Given the description of an element on the screen output the (x, y) to click on. 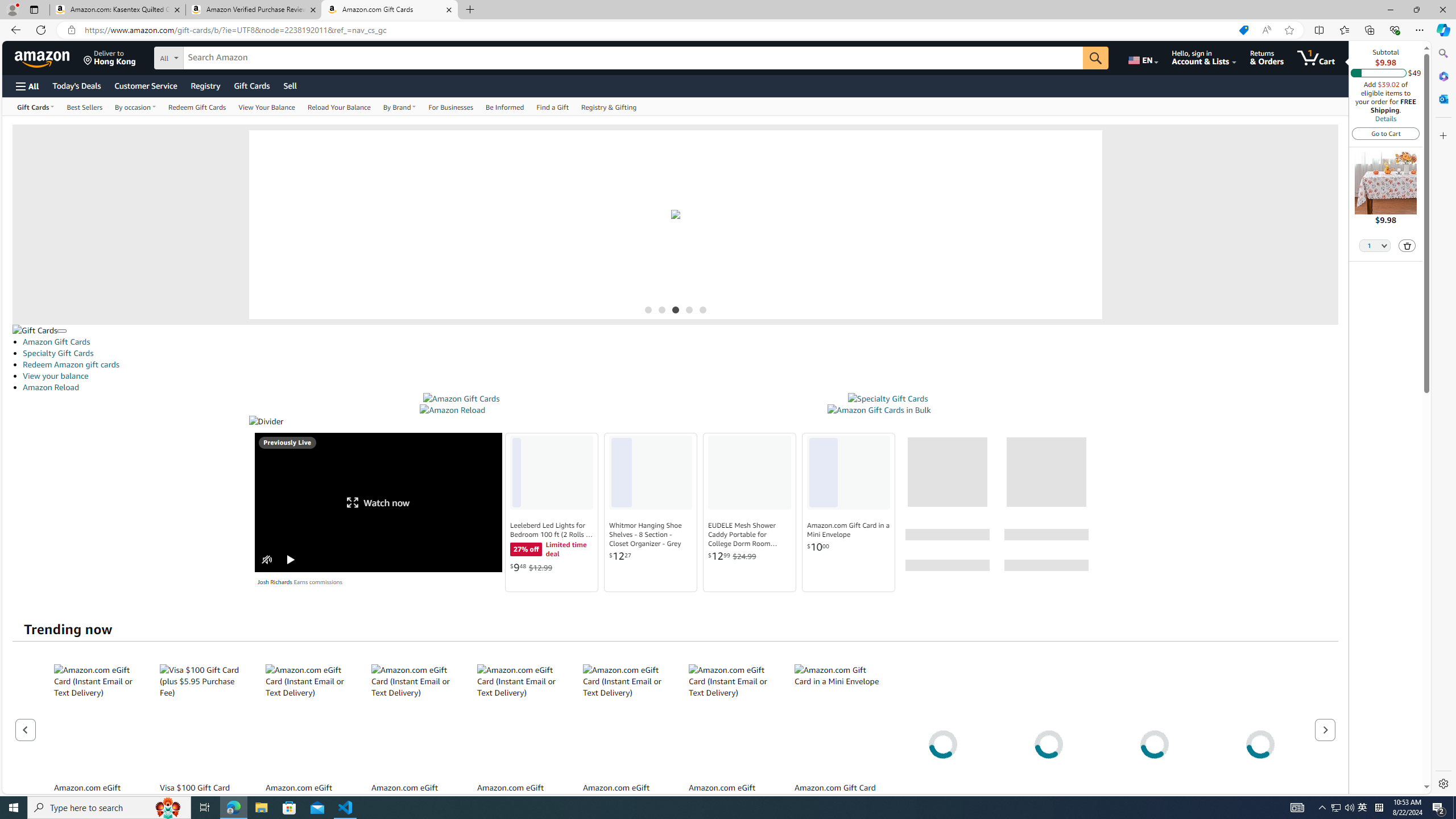
Search in (210, 56)
Earns commissions (318, 581)
Registry & Gifting (609, 106)
Amazon.com Gift Card in a Mini Envelope (836, 720)
Customer Service (145, 85)
